Given the description of an element on the screen output the (x, y) to click on. 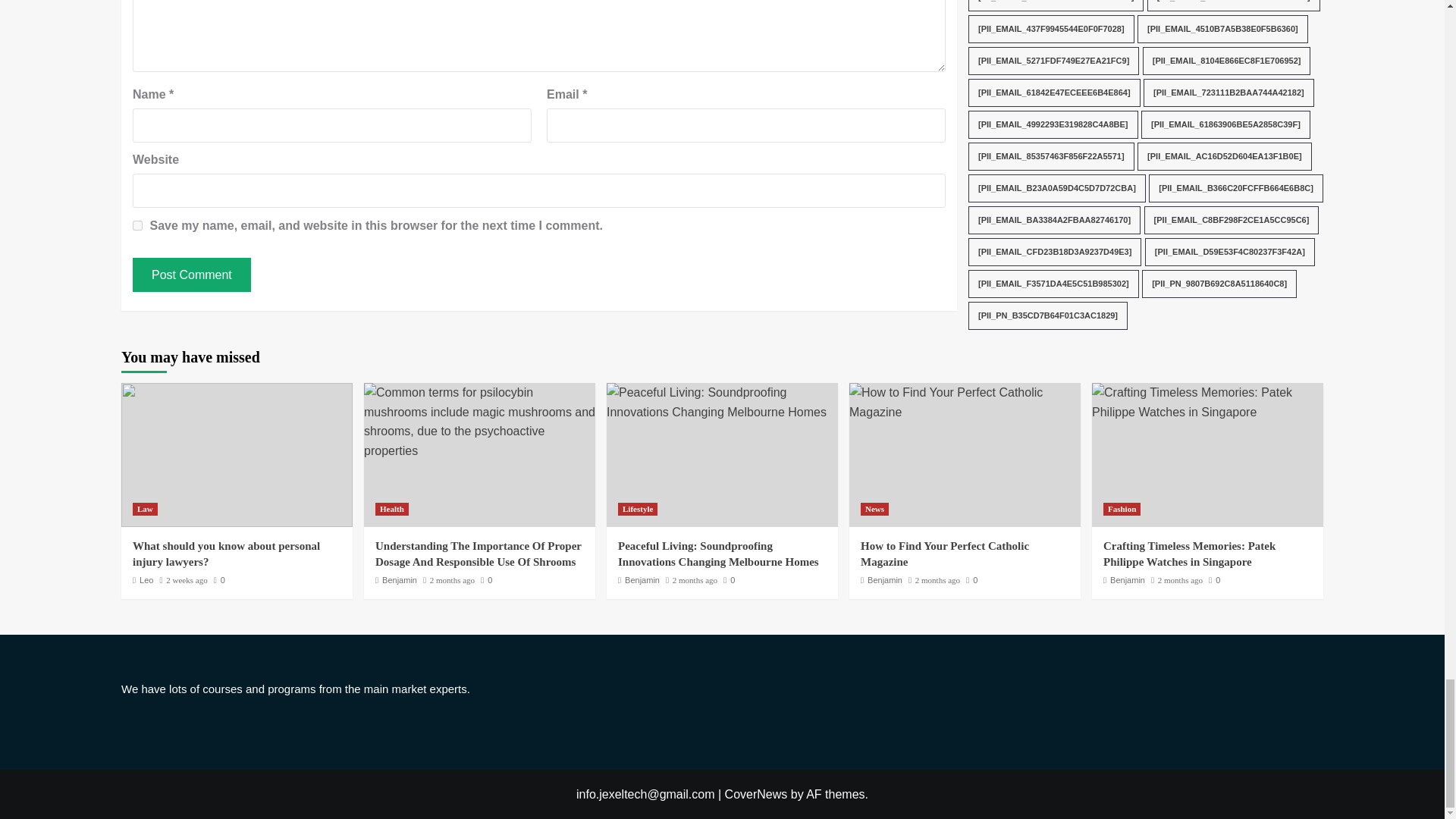
Post Comment (191, 274)
yes (137, 225)
